Given the description of an element on the screen output the (x, y) to click on. 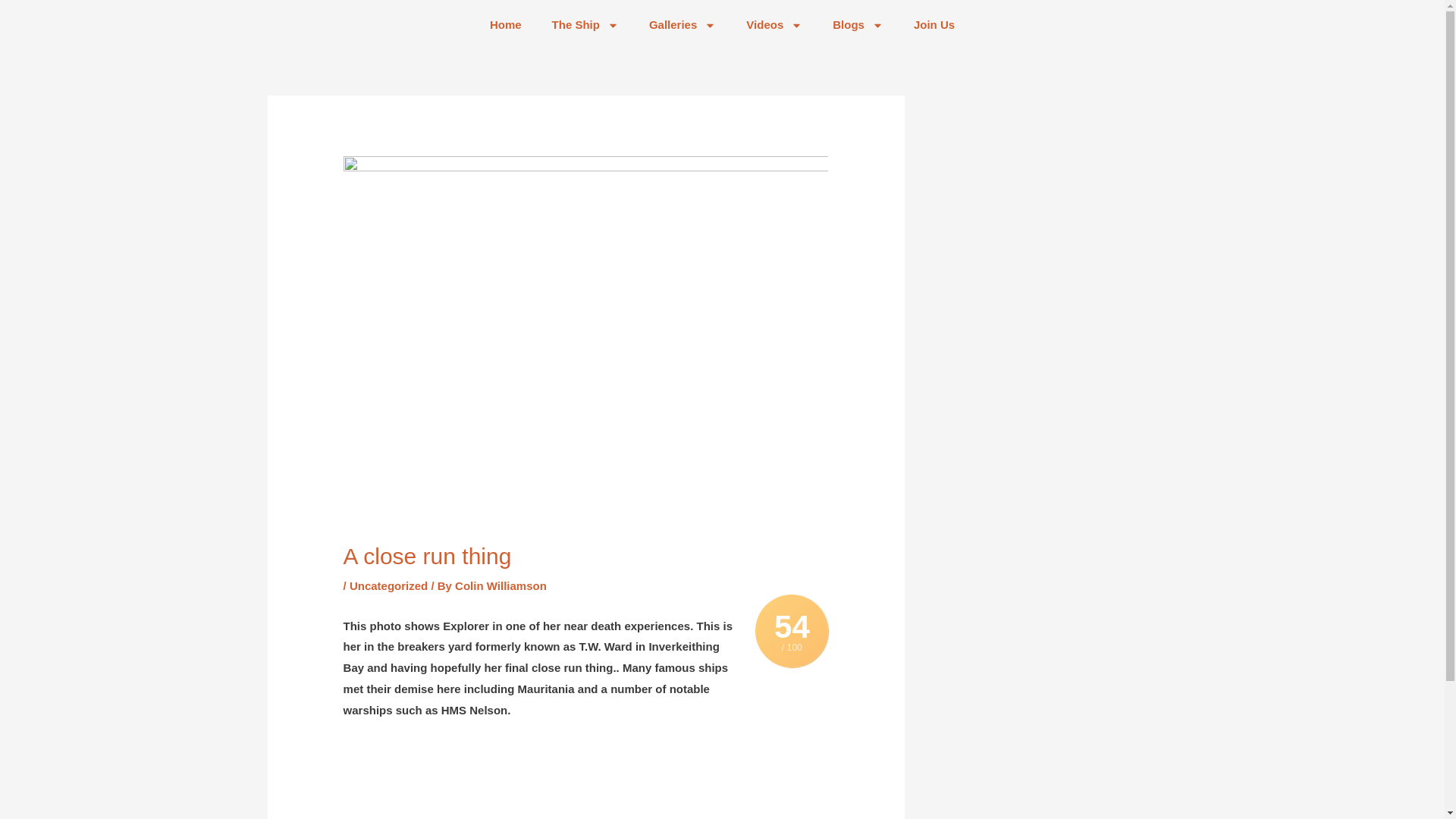
Home (505, 24)
View all posts by Colin Williamson (500, 585)
The Ship (585, 24)
Videos (773, 24)
Galleries (681, 24)
